Given the description of an element on the screen output the (x, y) to click on. 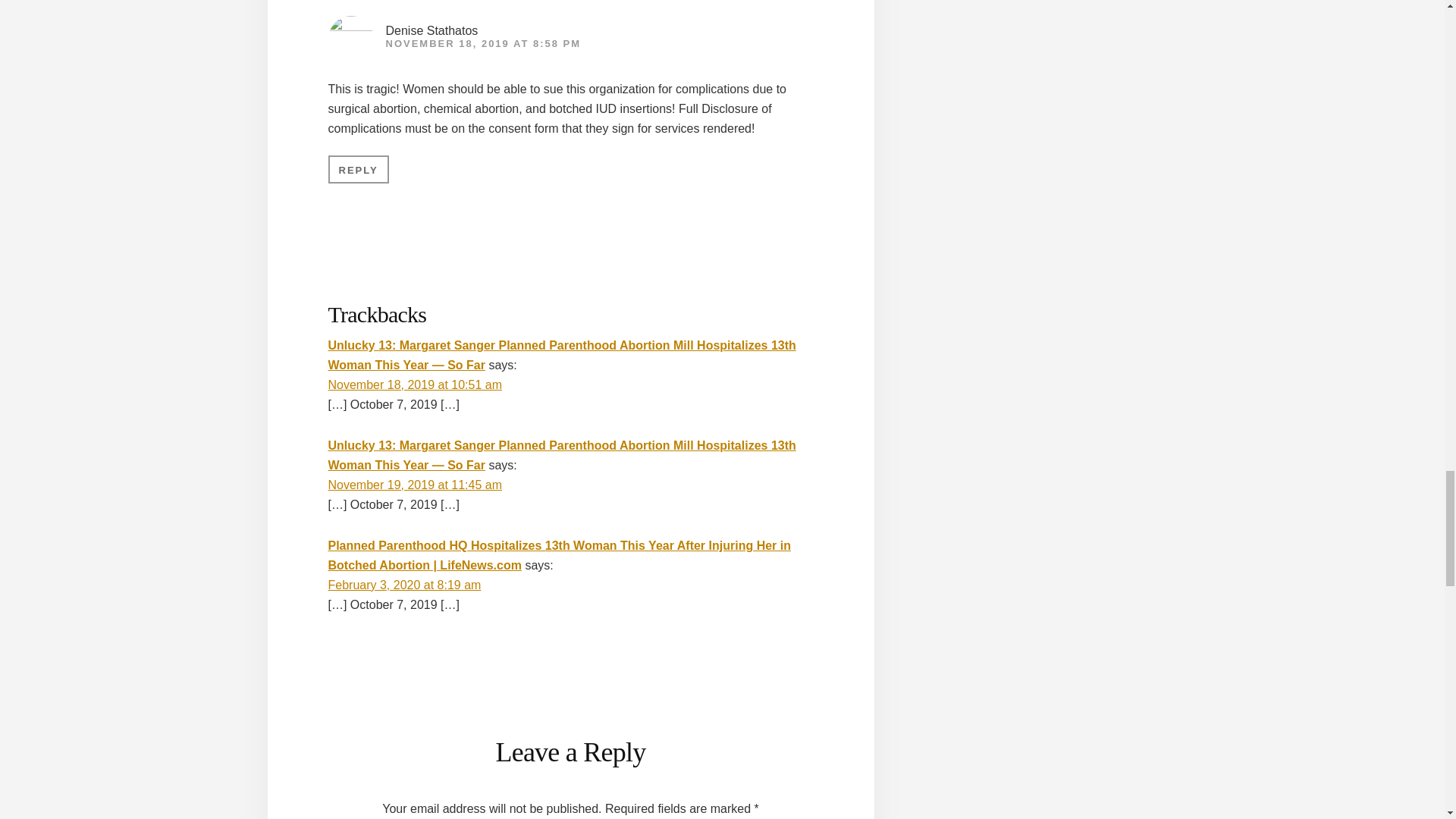
NOVEMBER 18, 2019 AT 8:58 PM (482, 43)
November 18, 2019 at 10:51 am (413, 384)
November 19, 2019 at 11:45 am (413, 484)
February 3, 2020 at 8:19 am (403, 584)
REPLY (357, 169)
